Given the description of an element on the screen output the (x, y) to click on. 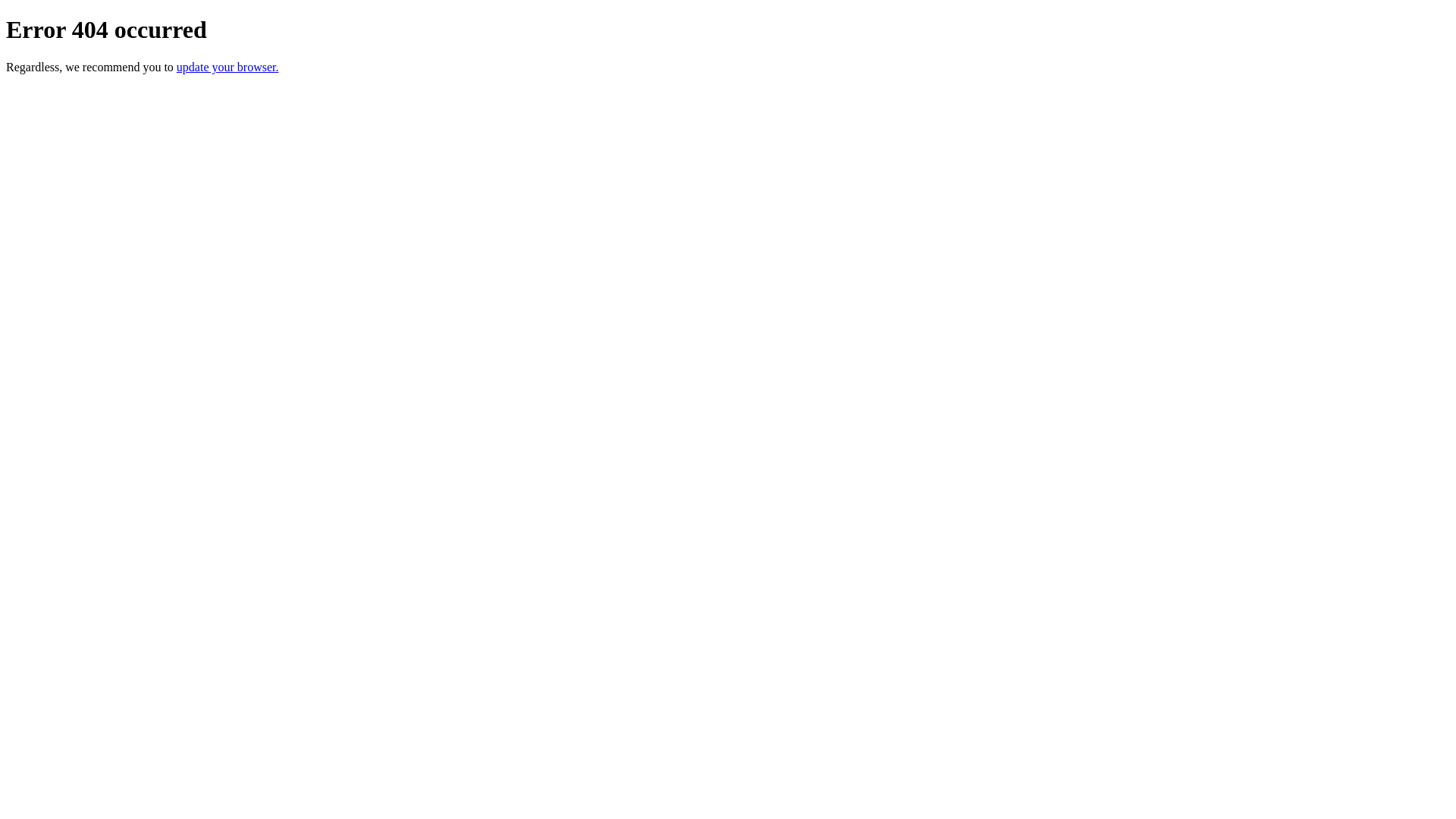
update your browser. Element type: text (227, 66)
